Given the description of an element on the screen output the (x, y) to click on. 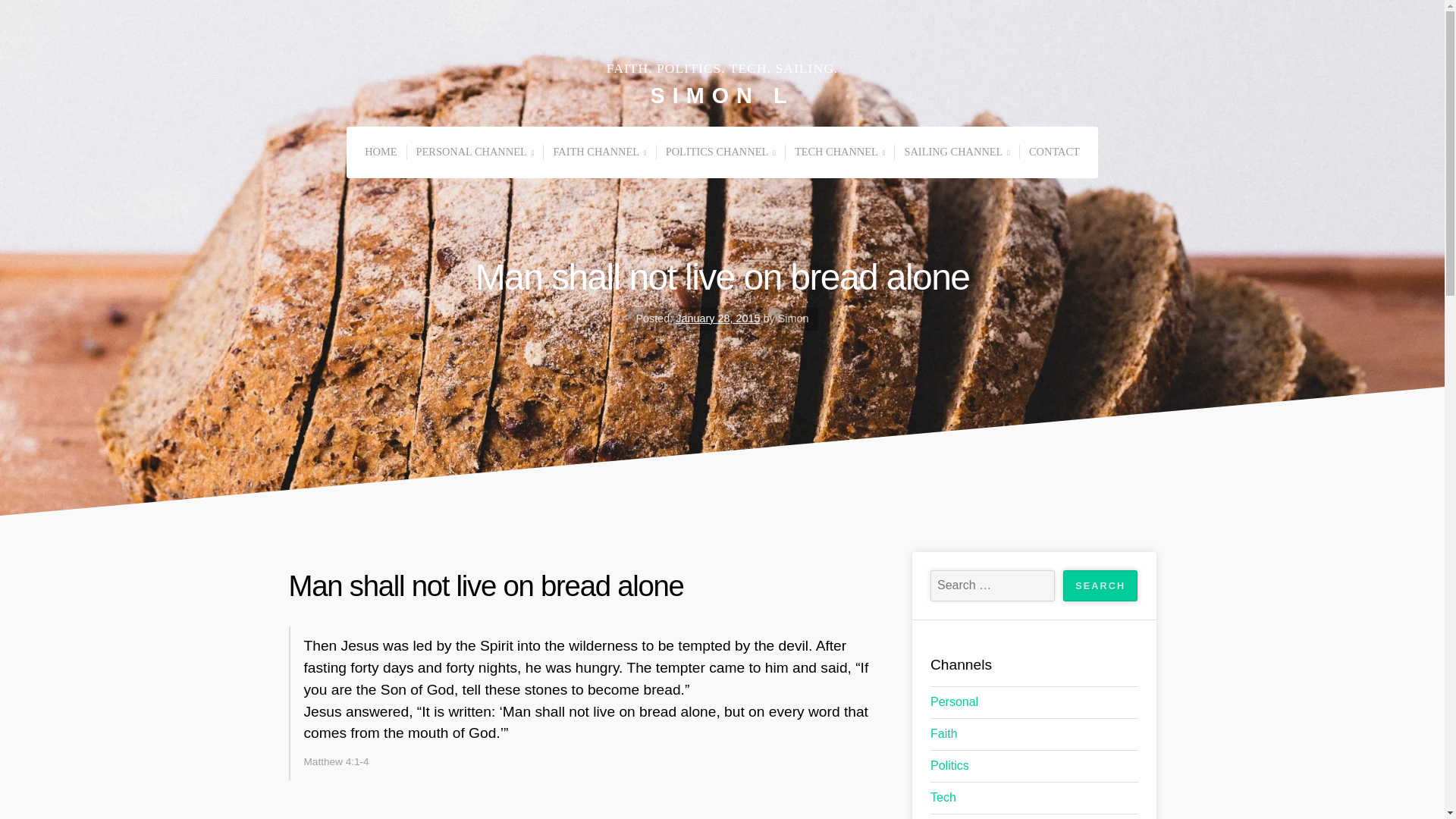
SAILING CHANNEL (956, 151)
HOME (380, 151)
POLITICS CHANNEL (720, 151)
FAITH CHANNEL (599, 151)
Search (1099, 585)
SIMON L (722, 95)
PERSONAL CHANNEL (474, 151)
TECH CHANNEL (839, 151)
CONTACT (1054, 151)
January 28, 2015 (717, 318)
